Given the description of an element on the screen output the (x, y) to click on. 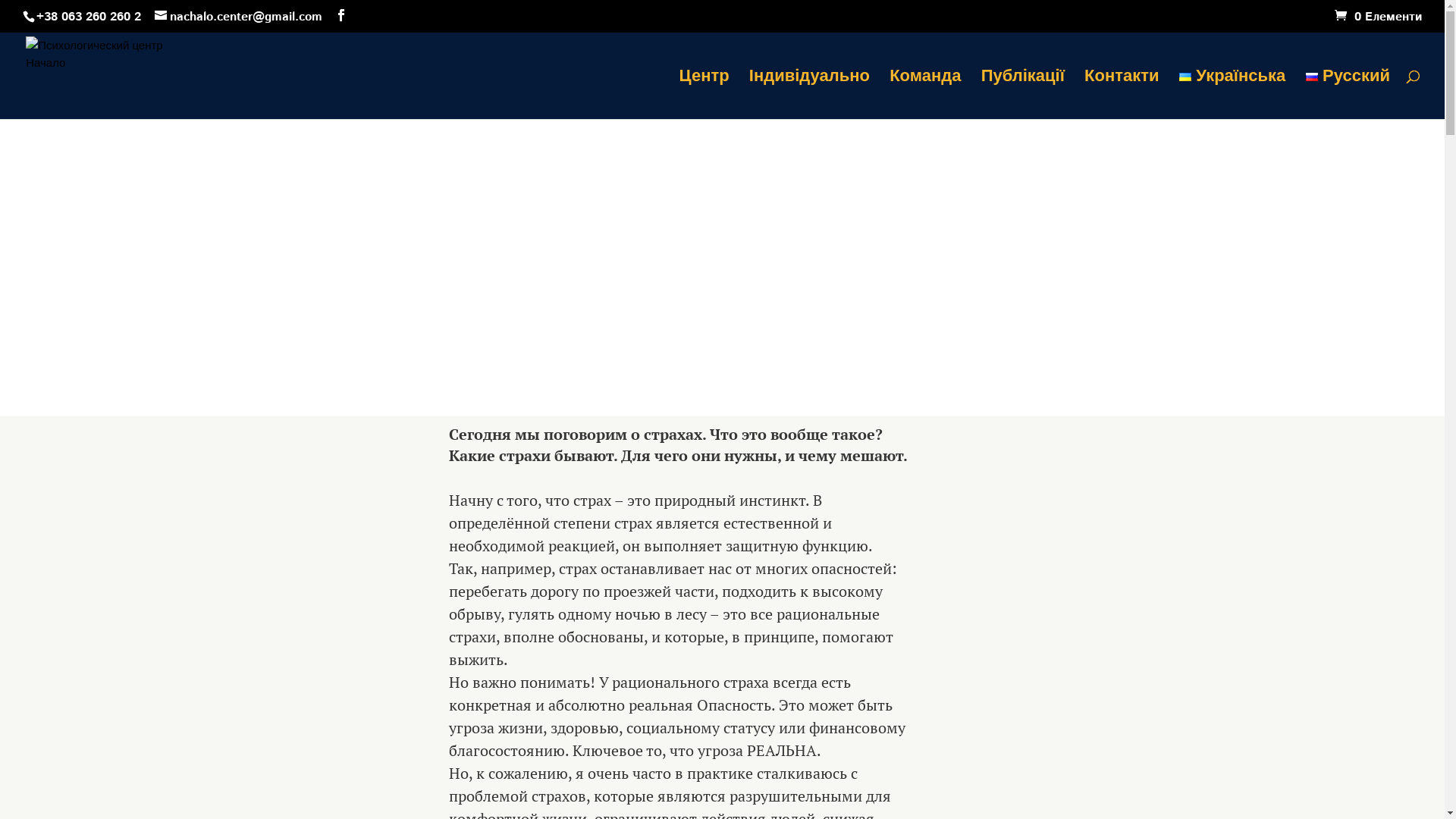
nachalo.center@gmail.com Element type: text (238, 16)
